Given the description of an element on the screen output the (x, y) to click on. 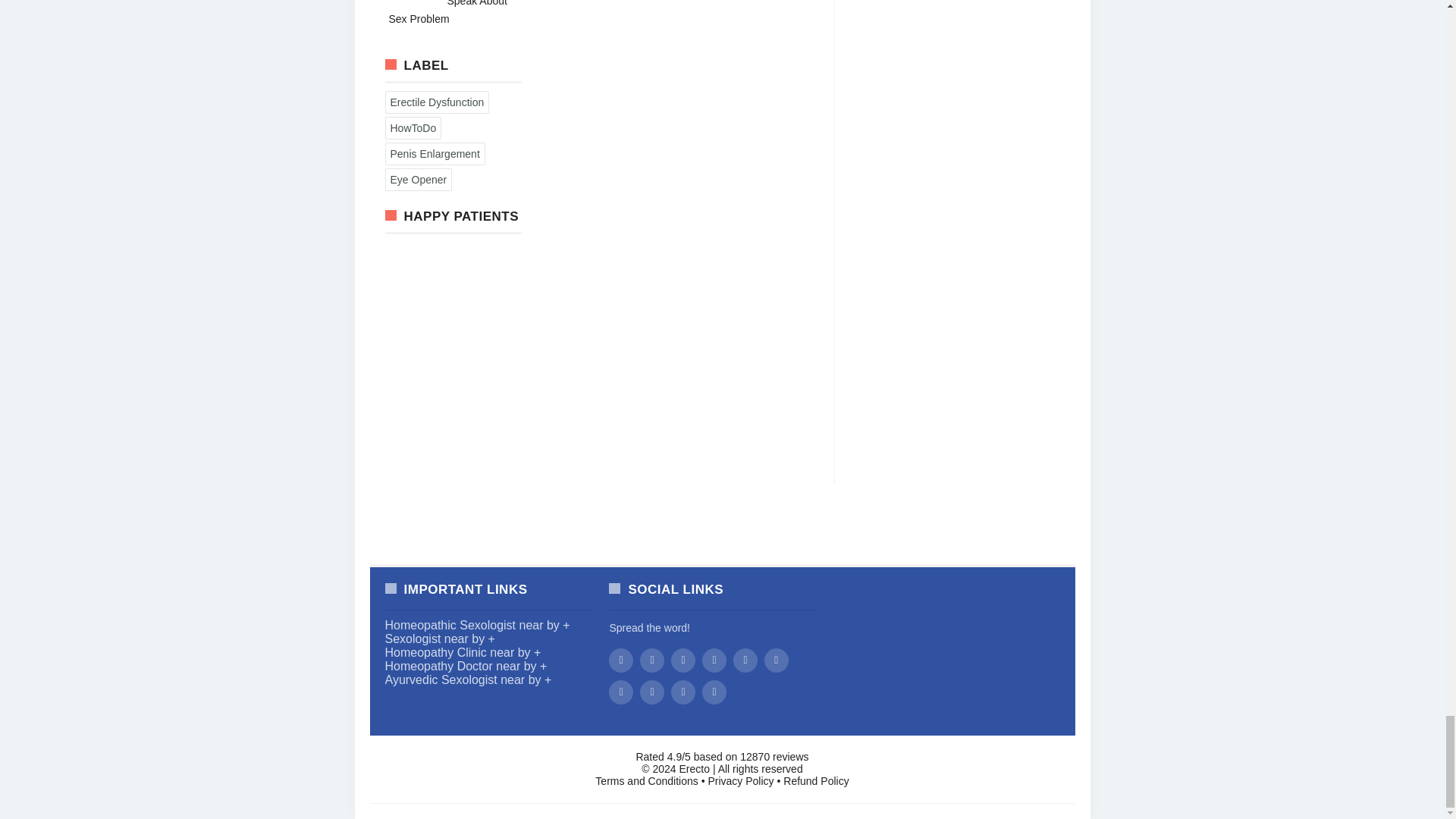
HowToDo (413, 127)
Why Men Hesitate To Speak About Sex Problem (447, 12)
Erectile Dysfunction (436, 102)
